Given the description of an element on the screen output the (x, y) to click on. 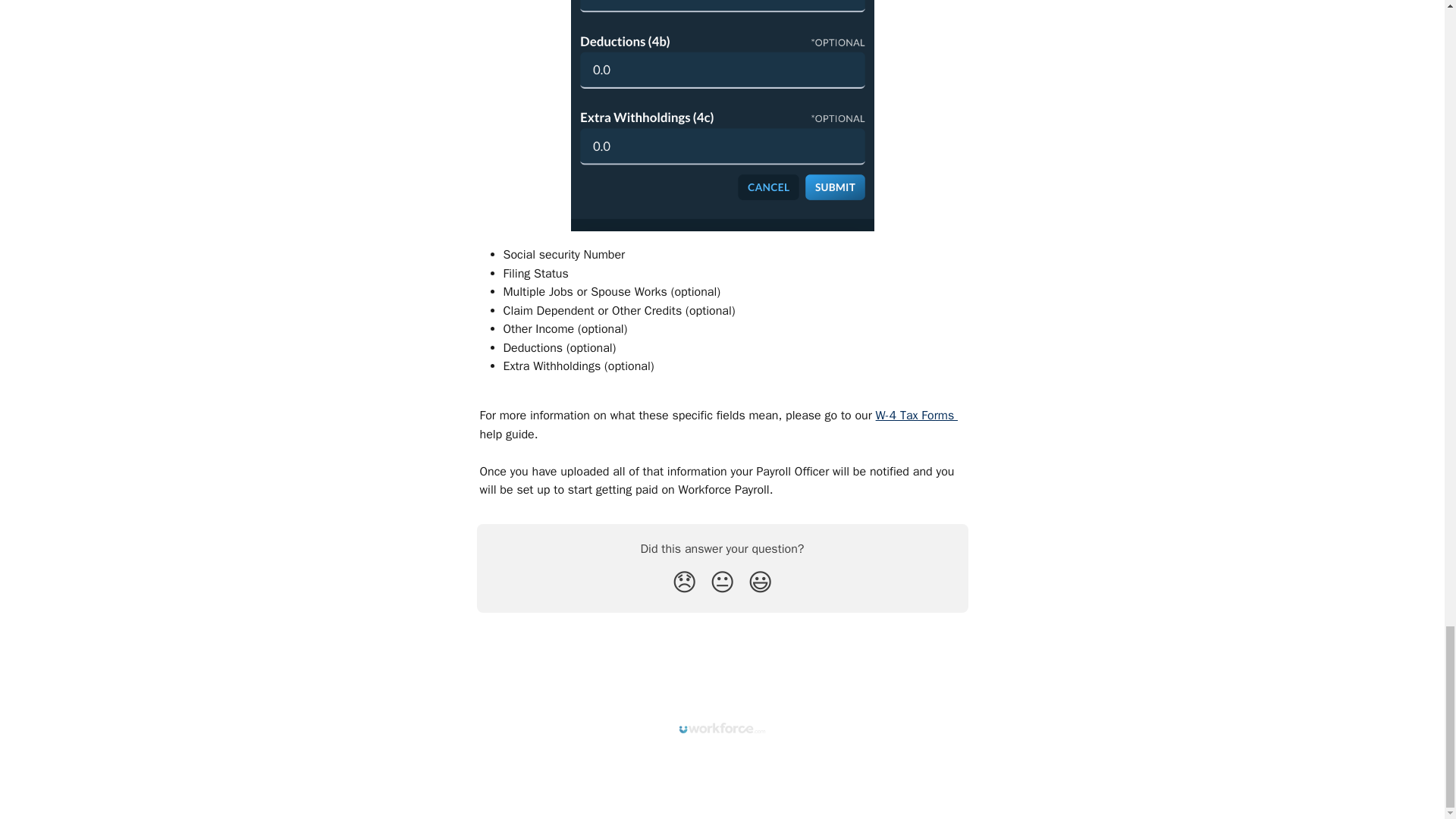
Neutral (722, 582)
Disappointed (684, 582)
W-4 Tax Forms (917, 415)
Smiley (760, 582)
